Given the description of an element on the screen output the (x, y) to click on. 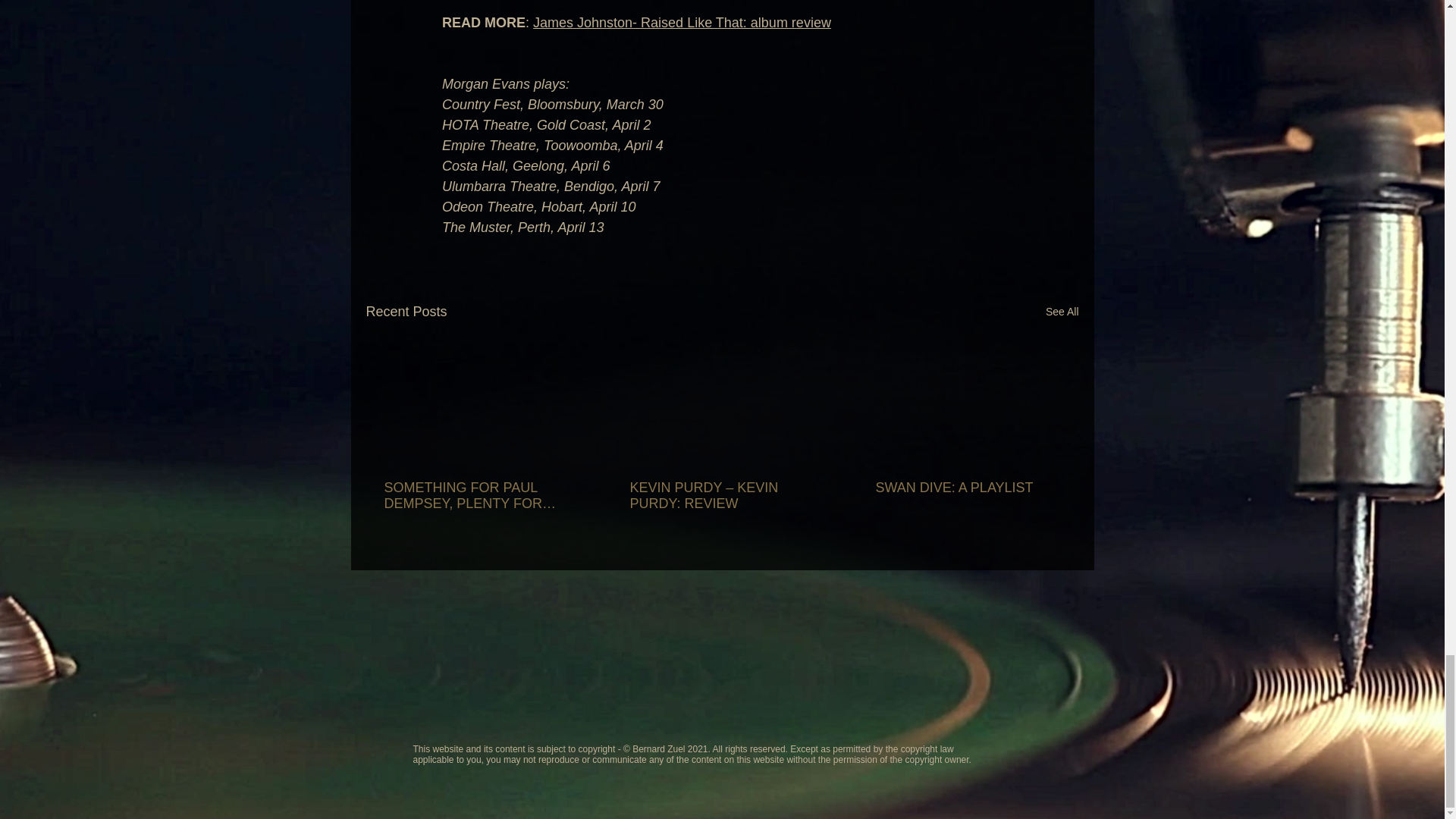
James Johnston- Raised Like That: album review (681, 22)
SOMETHING FOR PAUL DEMPSEY, PLENTY FOR WIND BACK WEDNESDAY (475, 495)
SWAN DIVE: A PLAYLIST (966, 487)
See All (1061, 311)
